Given the description of an element on the screen output the (x, y) to click on. 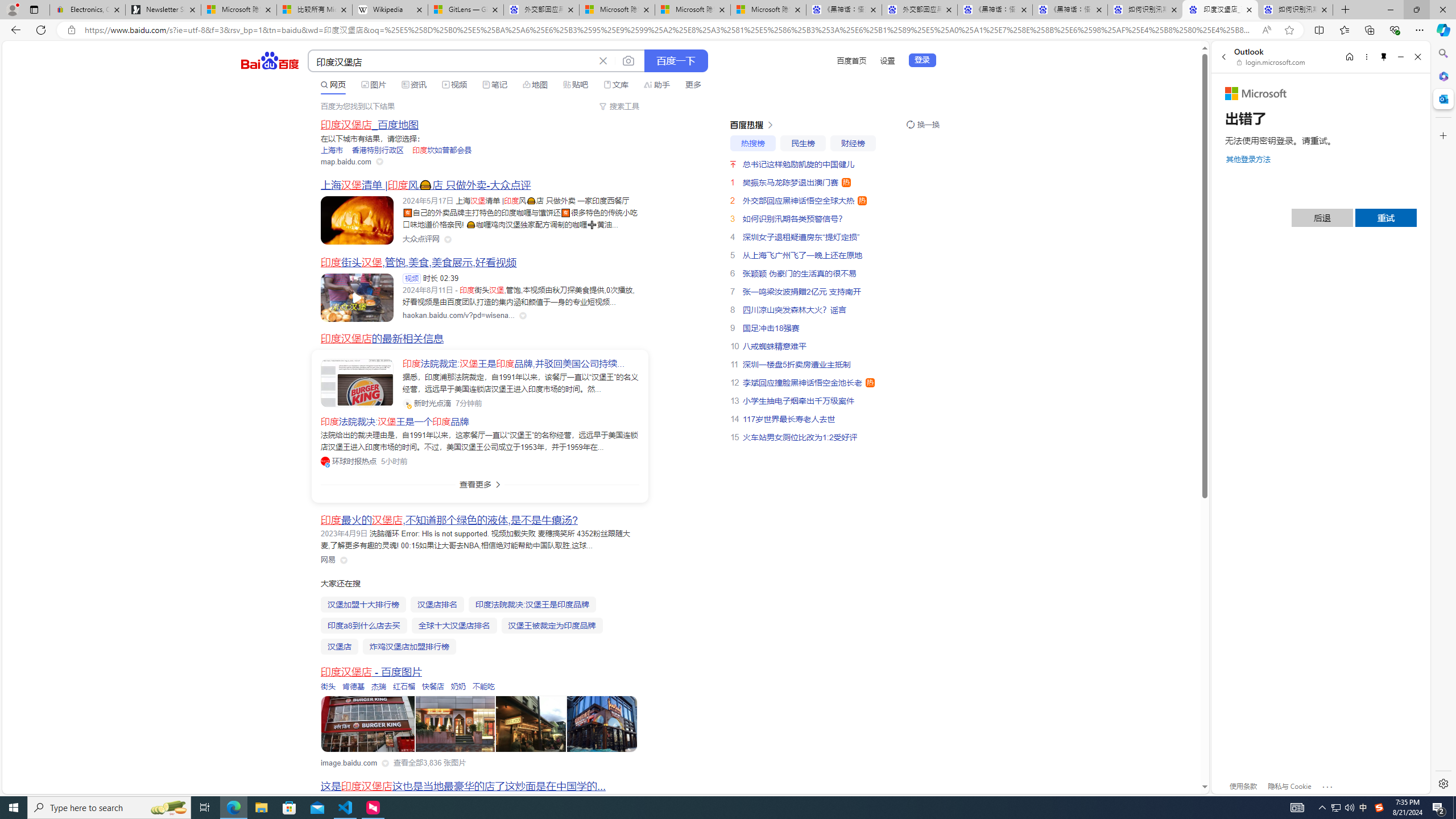
login.microsoft.com (1271, 61)
